Given the description of an element on the screen output the (x, y) to click on. 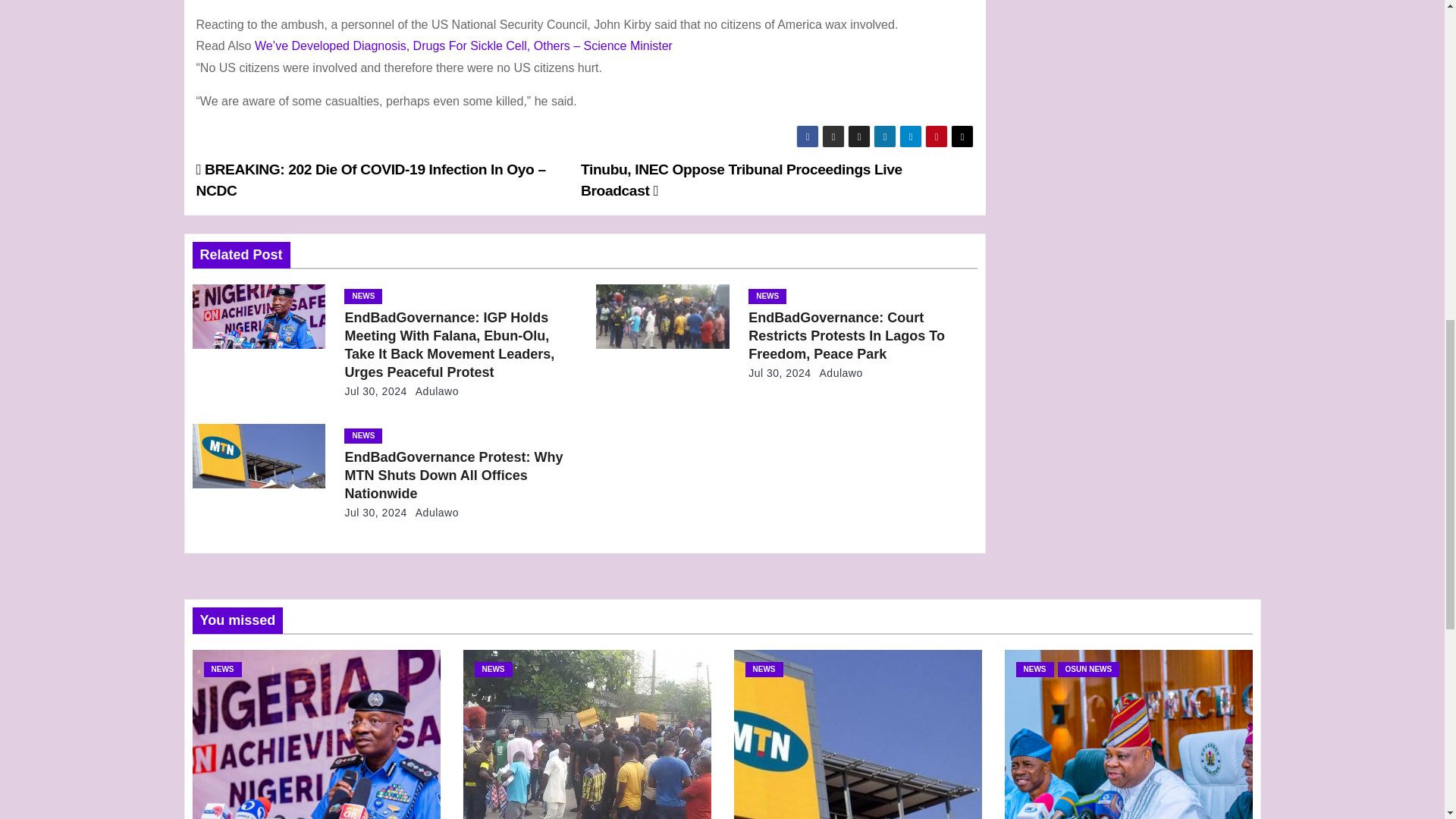
NEWS (362, 296)
Tinubu, INEC Oppose Tribunal Proceedings Live Broadcast (741, 180)
Adulawo (434, 390)
Jul 30, 2024 (374, 390)
